Given the description of an element on the screen output the (x, y) to click on. 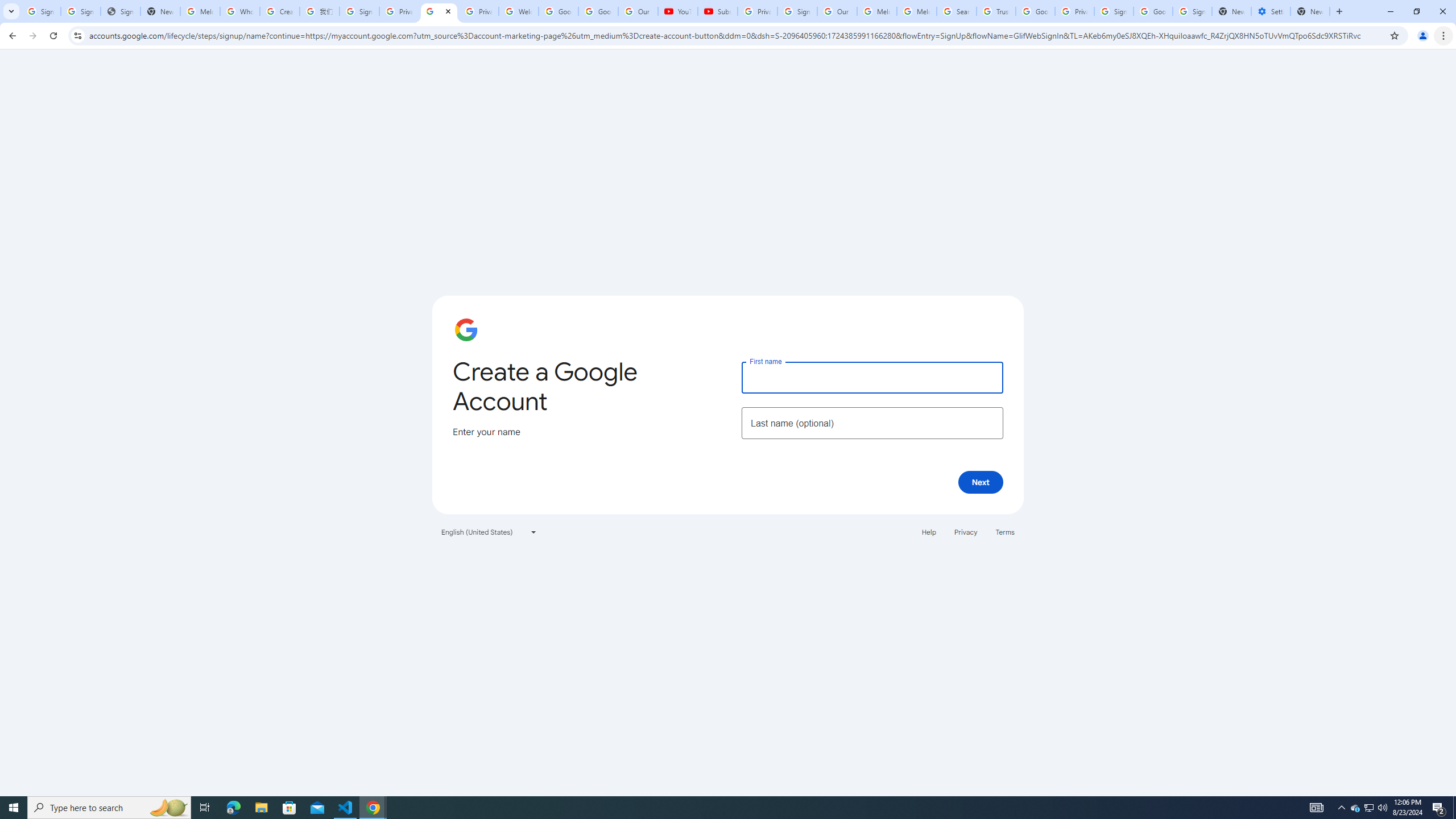
Sign in - Google Accounts (80, 11)
Help (928, 531)
Sign in - Google Accounts (359, 11)
Terms (1005, 531)
Welcome to My Activity (518, 11)
Google Account (598, 11)
Trusted Information and Content - Google Safety Center (995, 11)
